Given the description of an element on the screen output the (x, y) to click on. 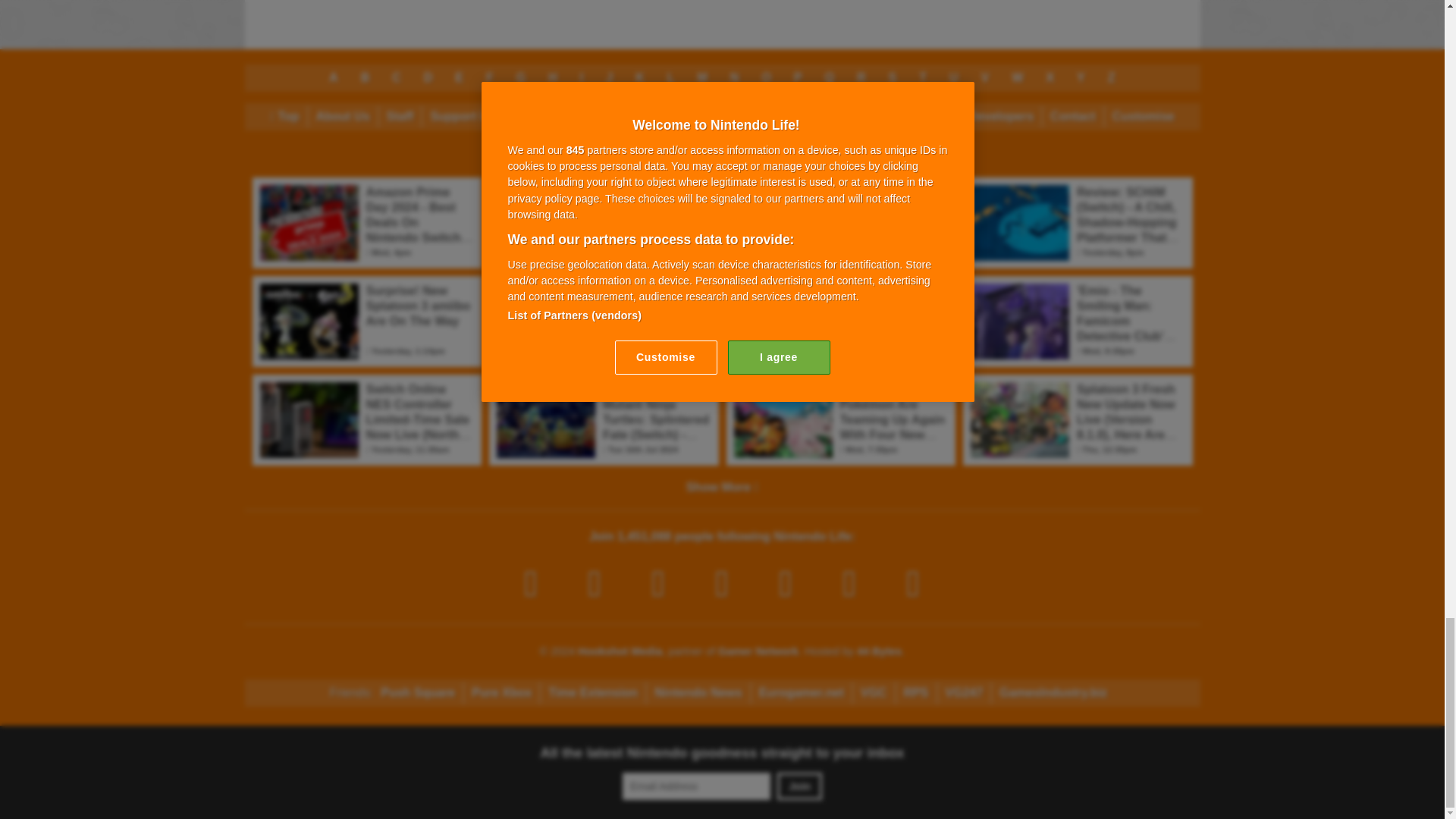
Join (799, 786)
